Given the description of an element on the screen output the (x, y) to click on. 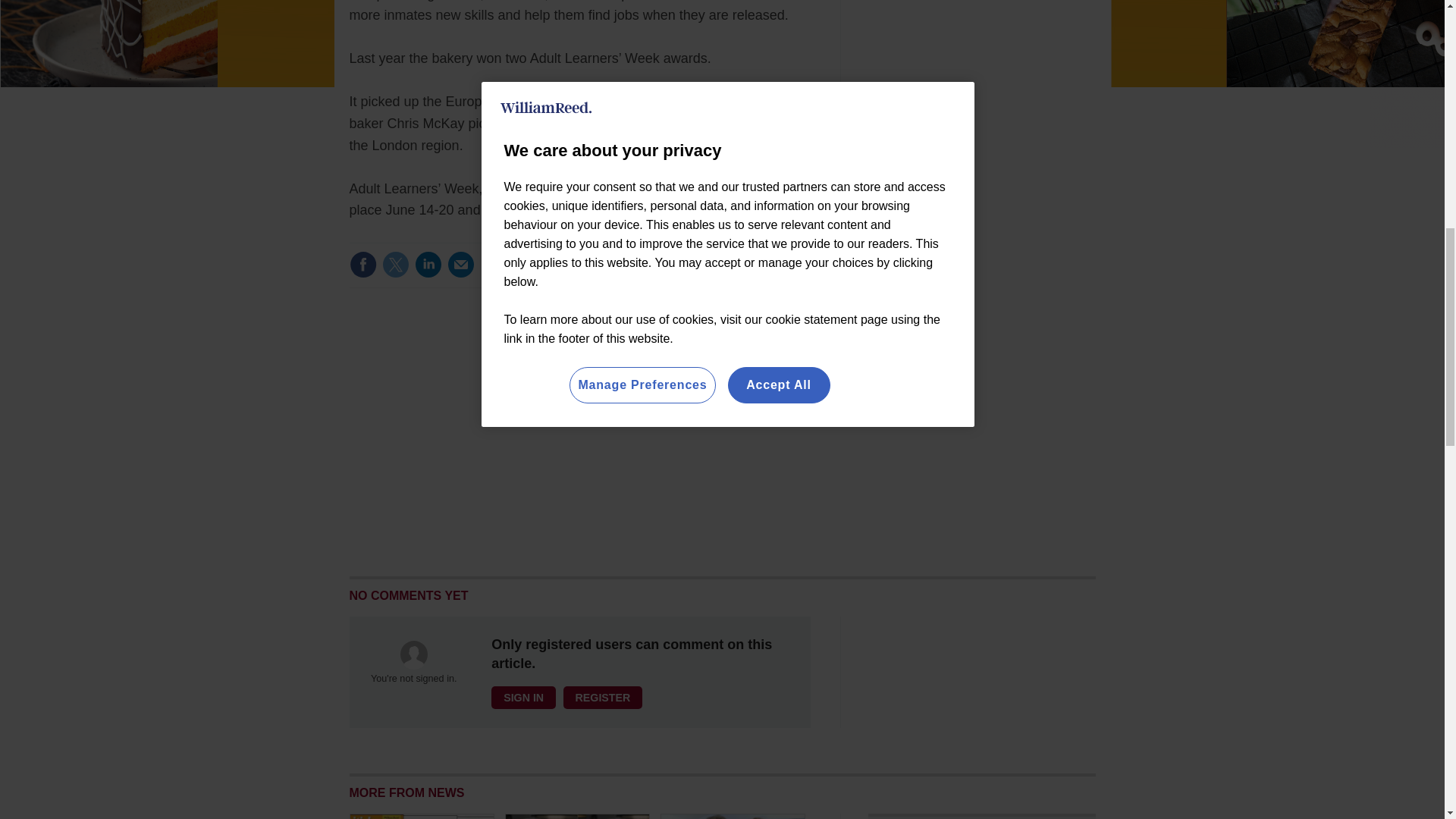
Share this on Facebook (362, 264)
Share this on Linked in (427, 264)
Share this on Twitter (395, 264)
No comments (759, 273)
Email this article (460, 264)
